Given the description of an element on the screen output the (x, y) to click on. 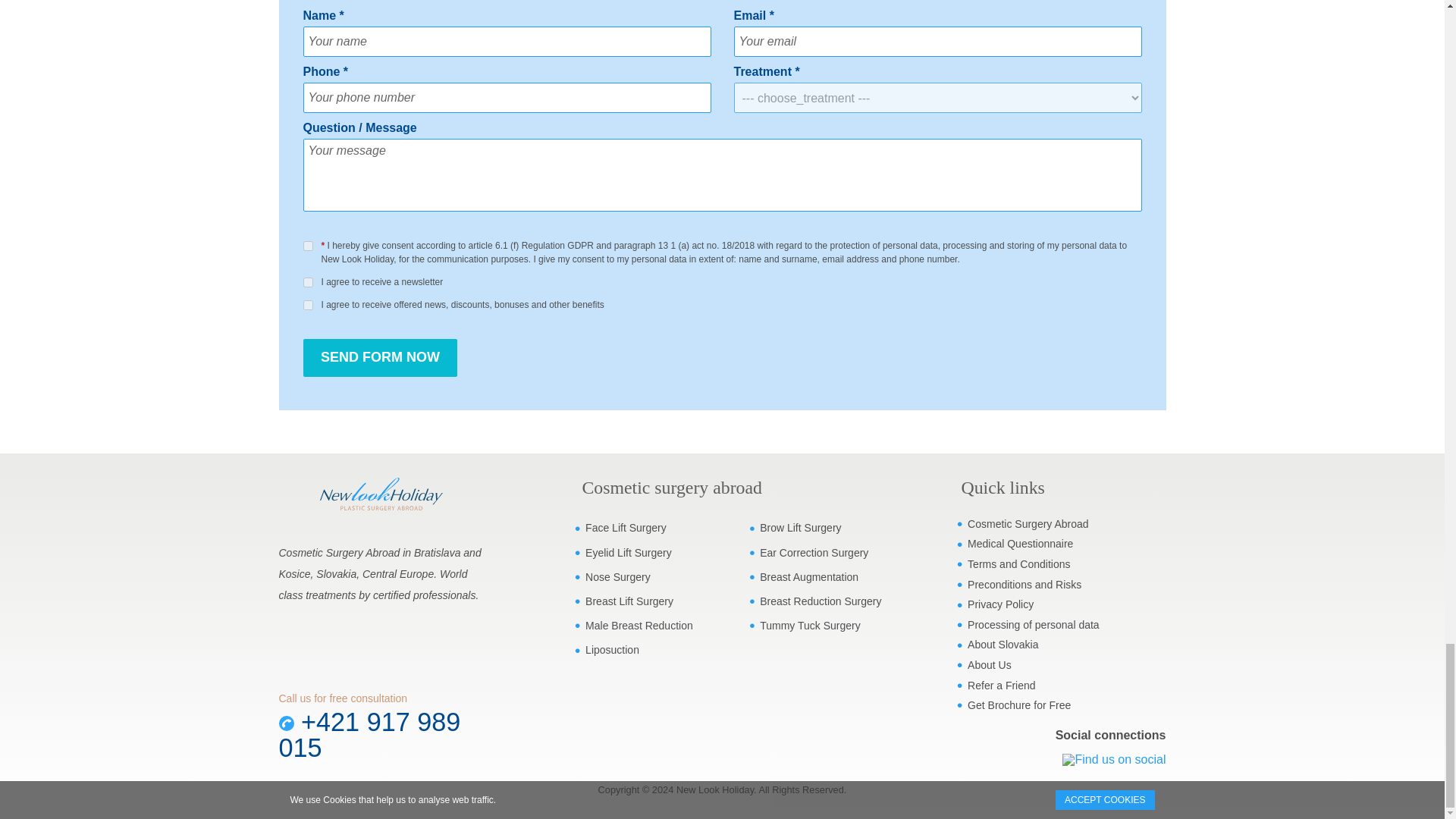
Y (307, 282)
Y (307, 305)
SEND FORM NOW (380, 357)
Y (307, 245)
